Given the description of an element on the screen output the (x, y) to click on. 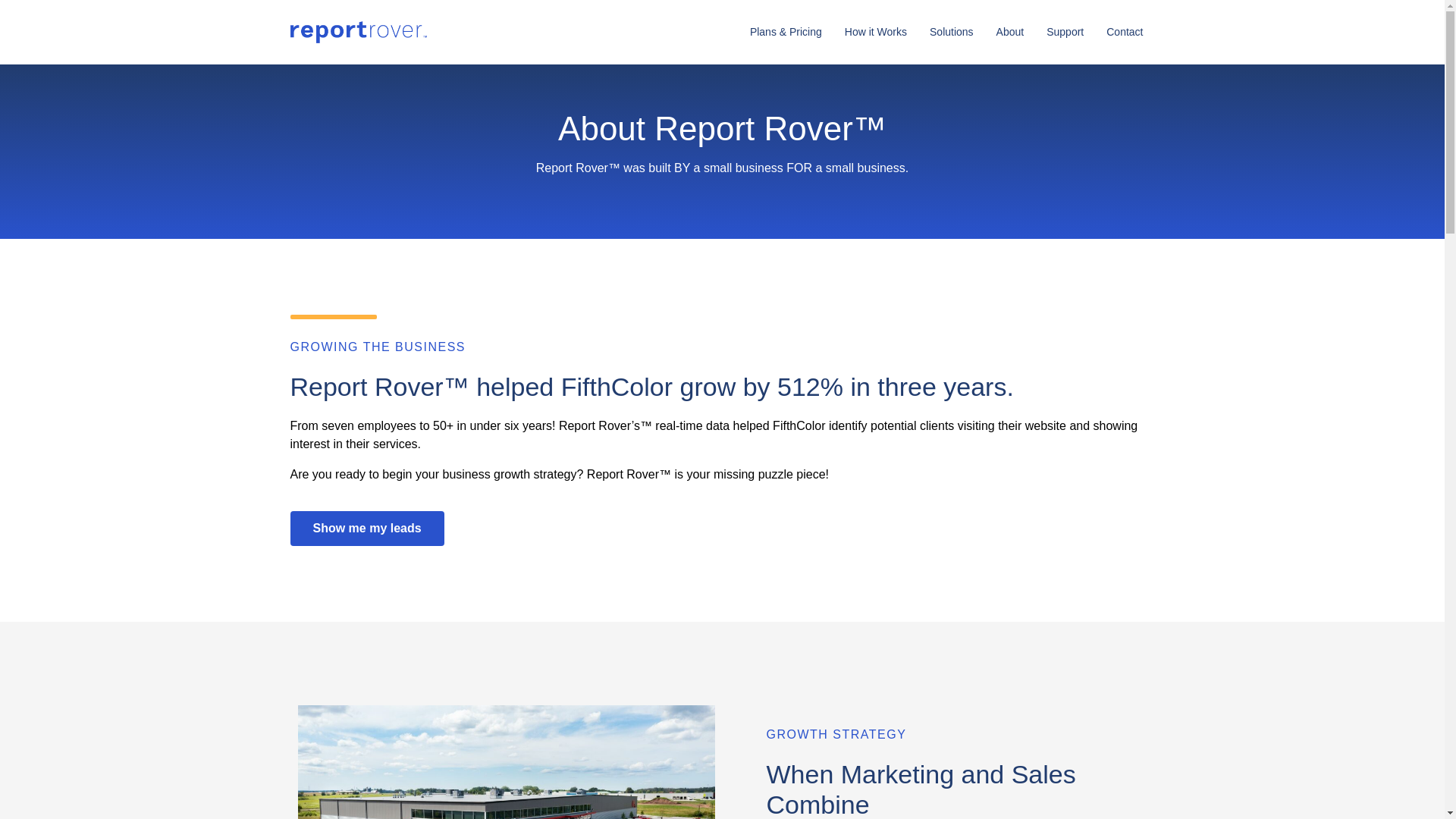
Solutions (951, 31)
About (1010, 31)
Show me my leads (366, 528)
How it Works (875, 31)
Contact (1124, 31)
Support (1064, 31)
